Given the description of an element on the screen output the (x, y) to click on. 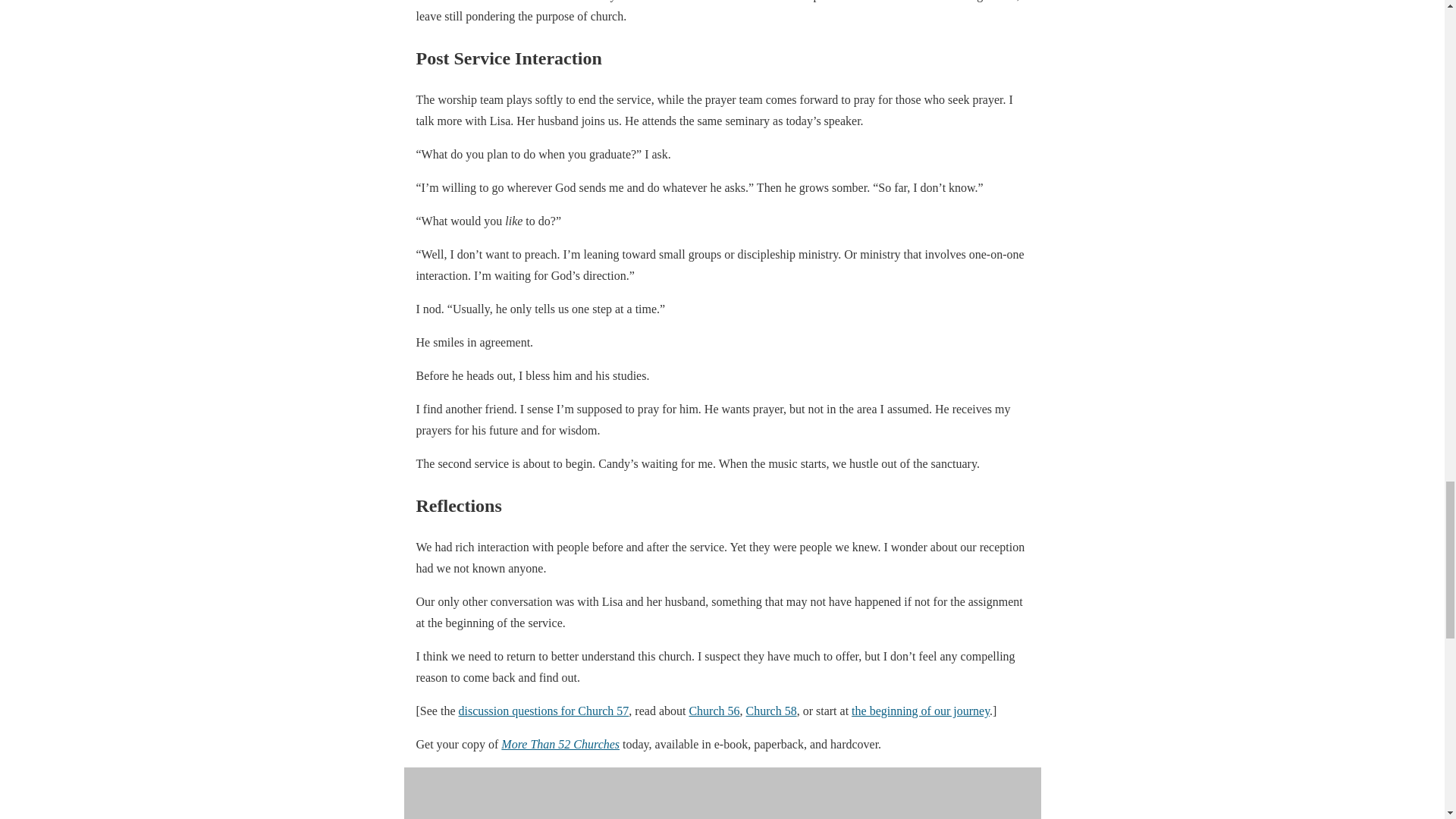
discussion questions for Church 57 (543, 710)
More Than 52 Churches (560, 744)
Church 58 (770, 710)
Church 56 (713, 710)
the beginning of our journey (920, 710)
